Given the description of an element on the screen output the (x, y) to click on. 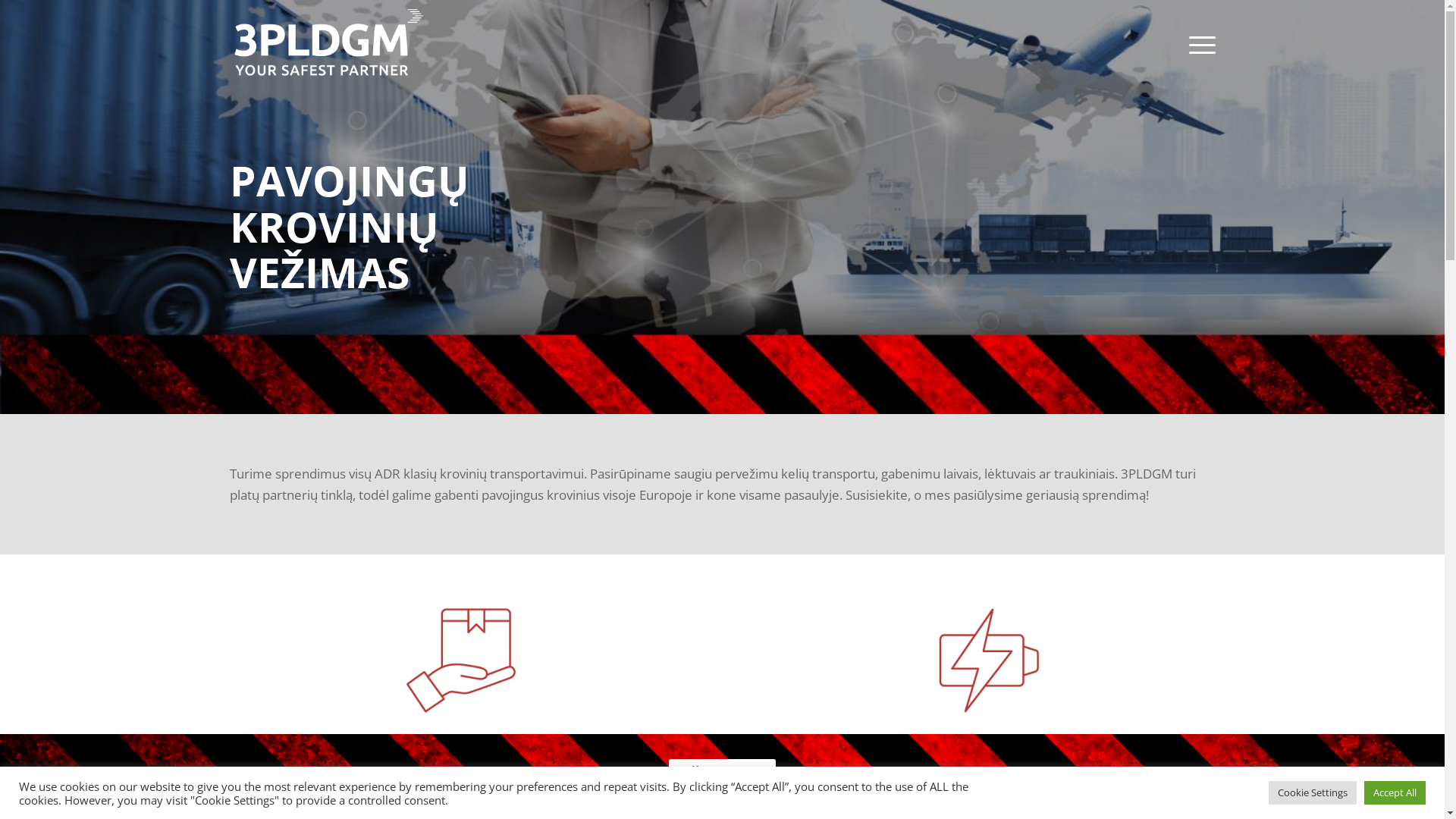
Icons-04 Element type: hover (460, 660)
Accept All Element type: text (1394, 792)
City Infrastructure Element type: hover (722, 207)
Cookie Settings Element type: text (1312, 792)
Logo copy W Element type: hover (327, 44)
Icons-06 Element type: hover (983, 660)
